Given the description of an element on the screen output the (x, y) to click on. 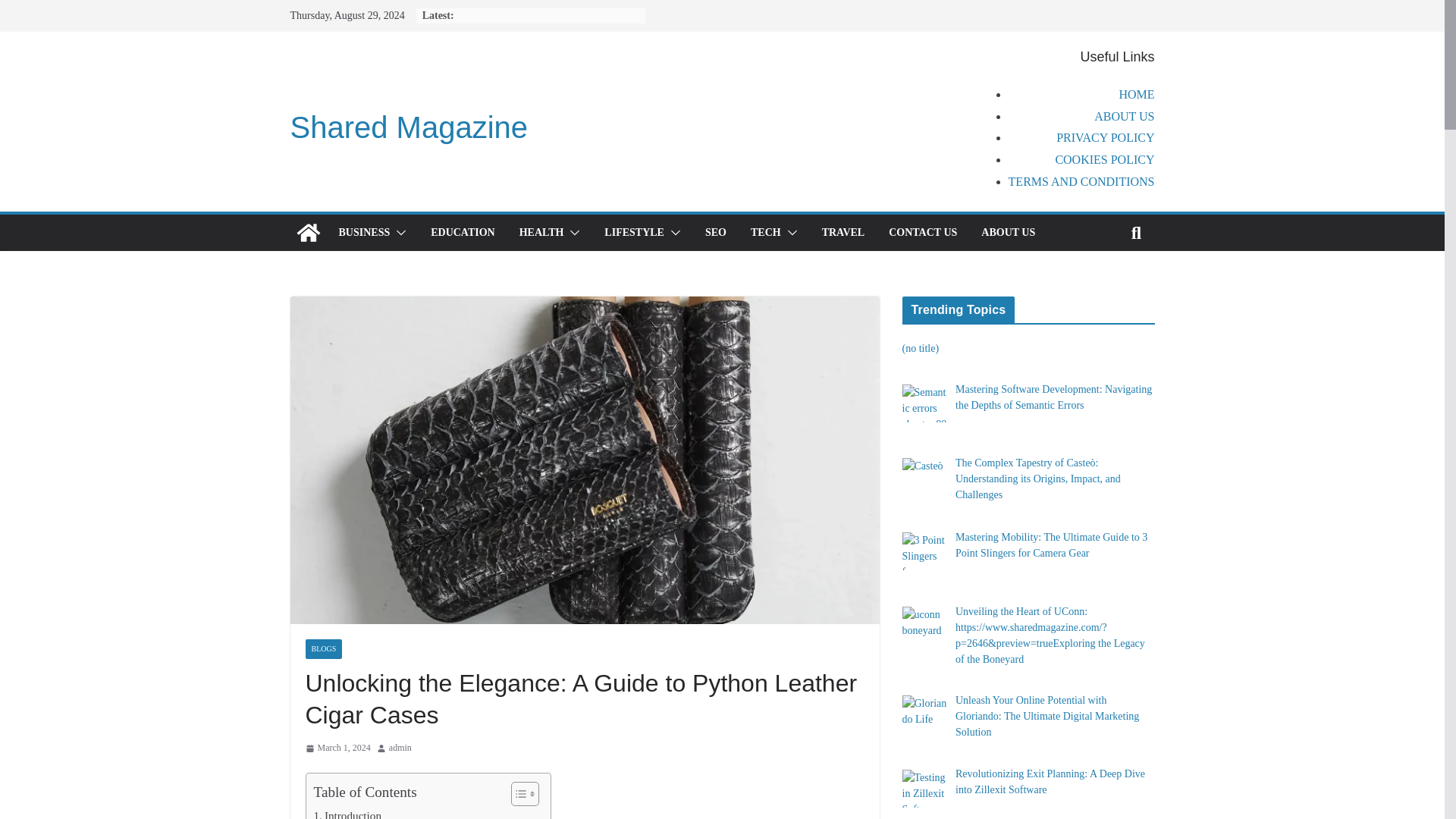
Shared Magazine (307, 232)
PRIVACY POLICY (1105, 137)
EDUCATION (462, 232)
admin (400, 748)
March 1, 2024 (336, 748)
HOME (1136, 93)
Introduction (347, 812)
CONTACT US (922, 232)
Introduction (347, 812)
TECH (765, 232)
